Given the description of an element on the screen output the (x, y) to click on. 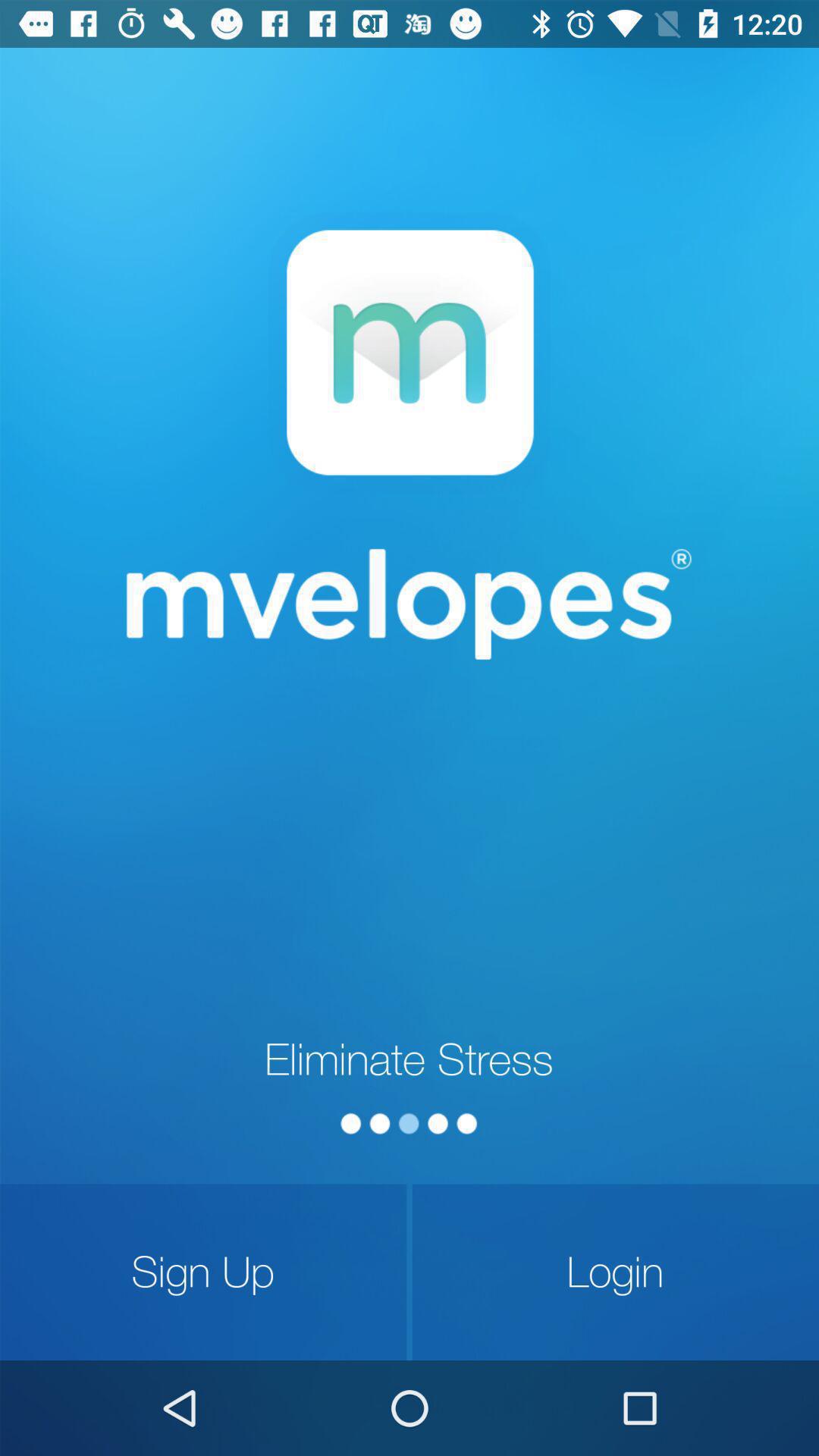
open icon to the right of sign up item (615, 1272)
